Given the description of an element on the screen output the (x, y) to click on. 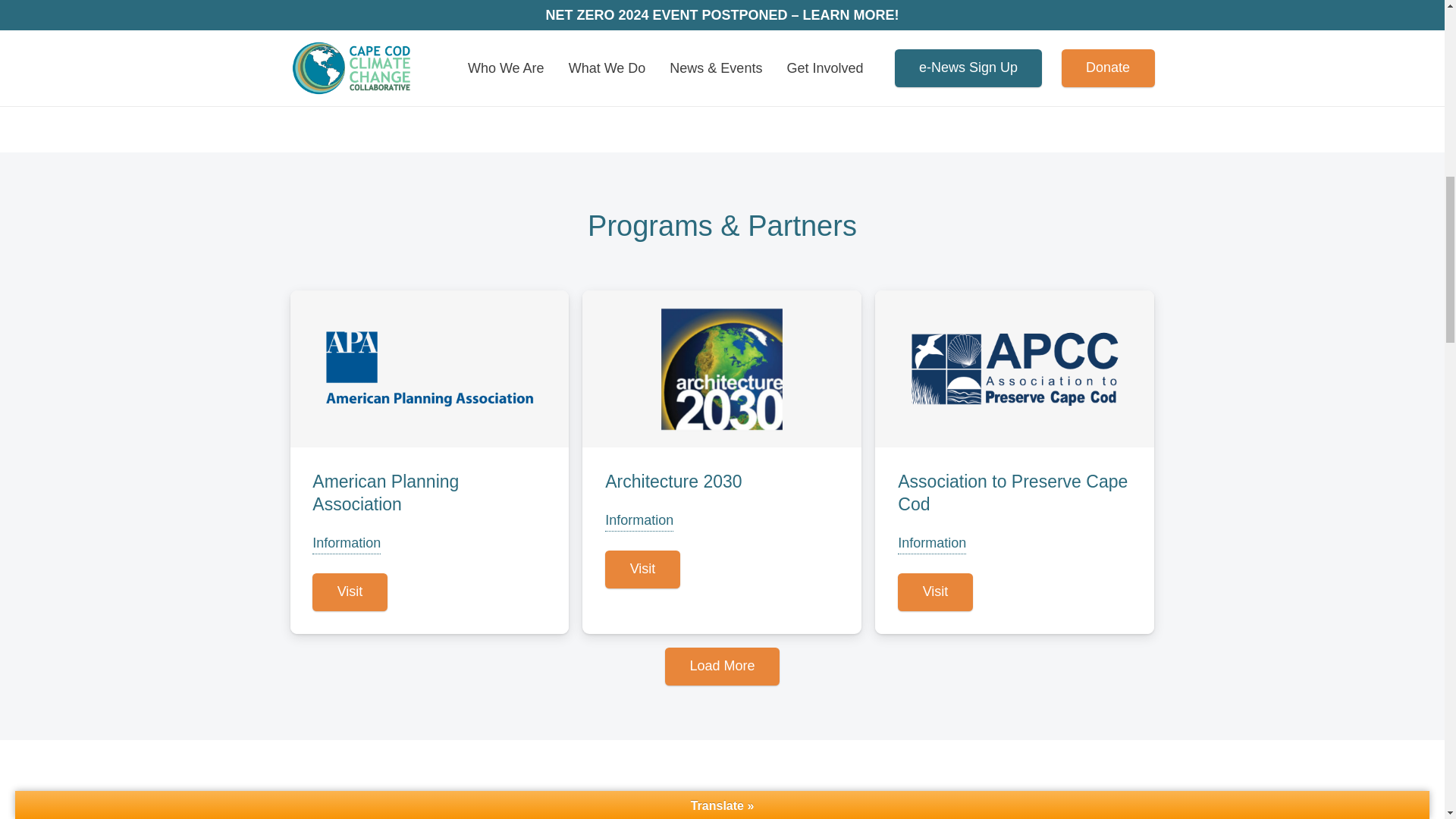
Information (346, 543)
Visit (350, 591)
